Given the description of an element on the screen output the (x, y) to click on. 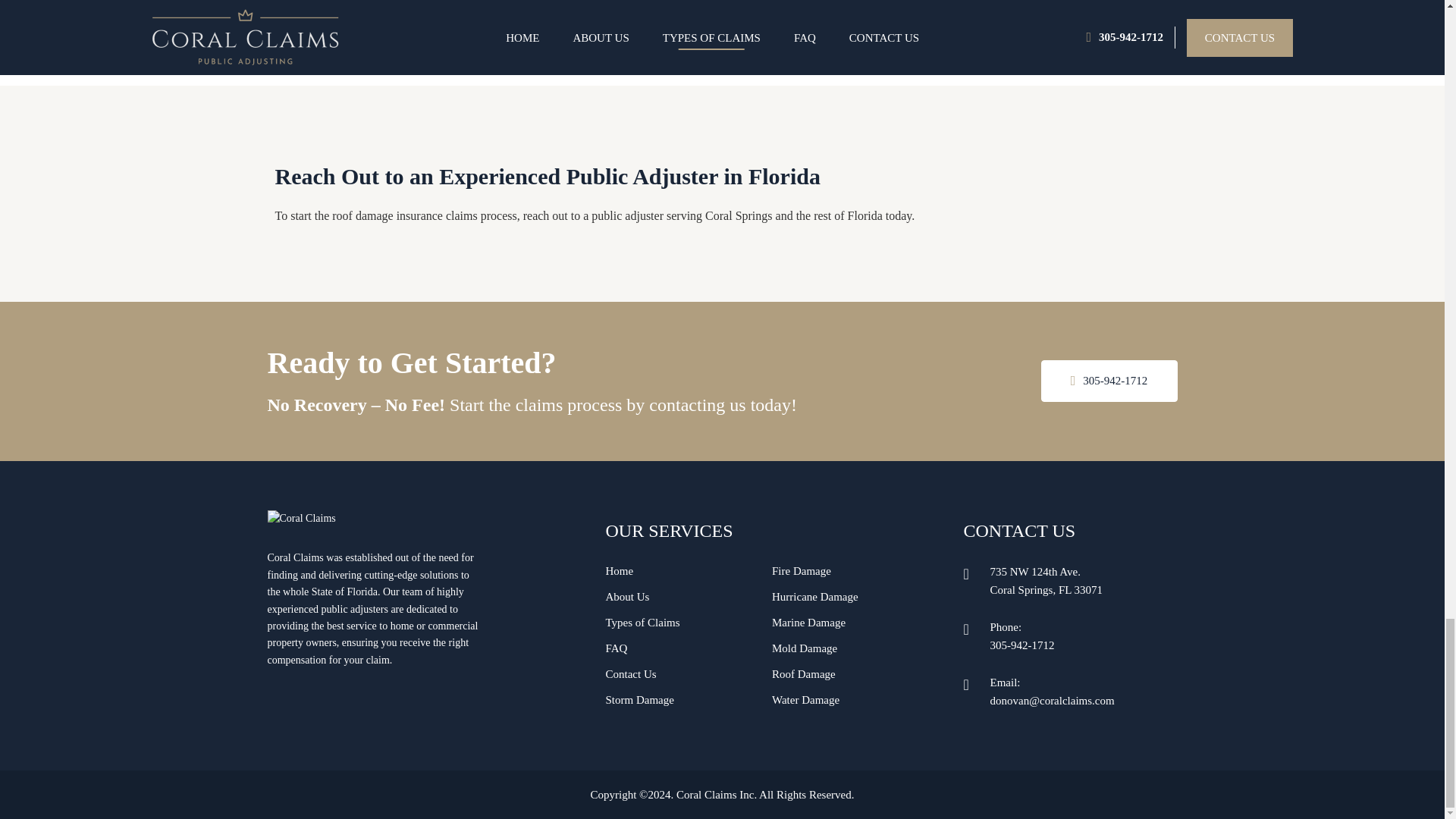
Water Damage (805, 699)
Marine Damage (808, 622)
Fire Damage (801, 571)
305-942-1712 (1022, 645)
Mold Damage (804, 648)
Types of Claims (642, 622)
About Us (627, 596)
Contact Us (630, 674)
FAQ (616, 648)
Storm Damage (638, 699)
